Given the description of an element on the screen output the (x, y) to click on. 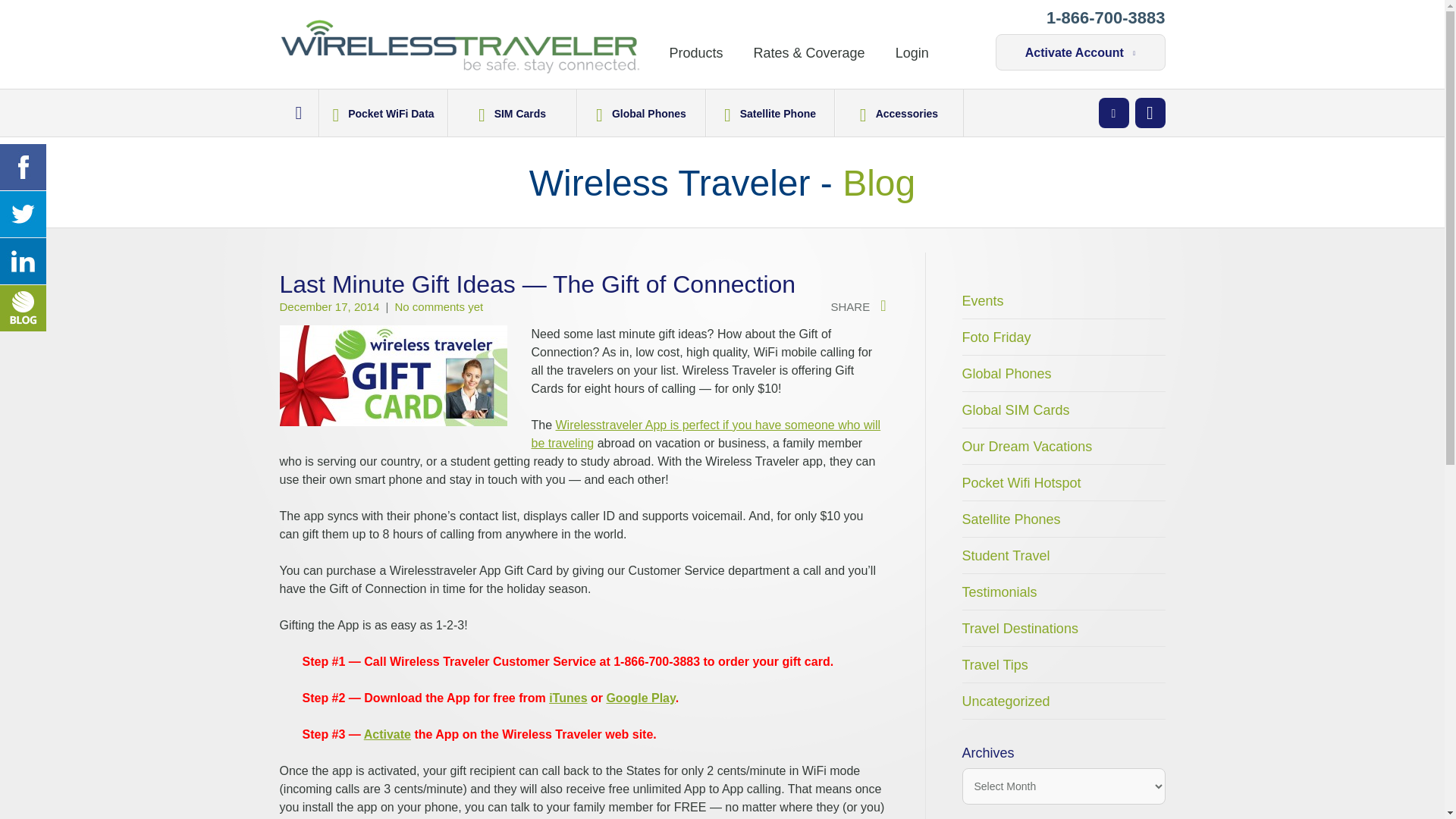
Cart (1149, 112)
Toggle (1112, 112)
Cart (1149, 112)
Events (1062, 300)
Student Travel (1062, 555)
Twitter (23, 213)
Global Phones (1062, 373)
Accessories (898, 112)
Wireless Traveler (459, 33)
Google Play (640, 697)
Foto Friday (1062, 336)
Wirelesstraveler Low Cost WiFi Calling App (705, 433)
Our Dream Vacations (1062, 446)
Pocket Wifi Hotspot (1062, 482)
SIM Cards (512, 112)
